Given the description of an element on the screen output the (x, y) to click on. 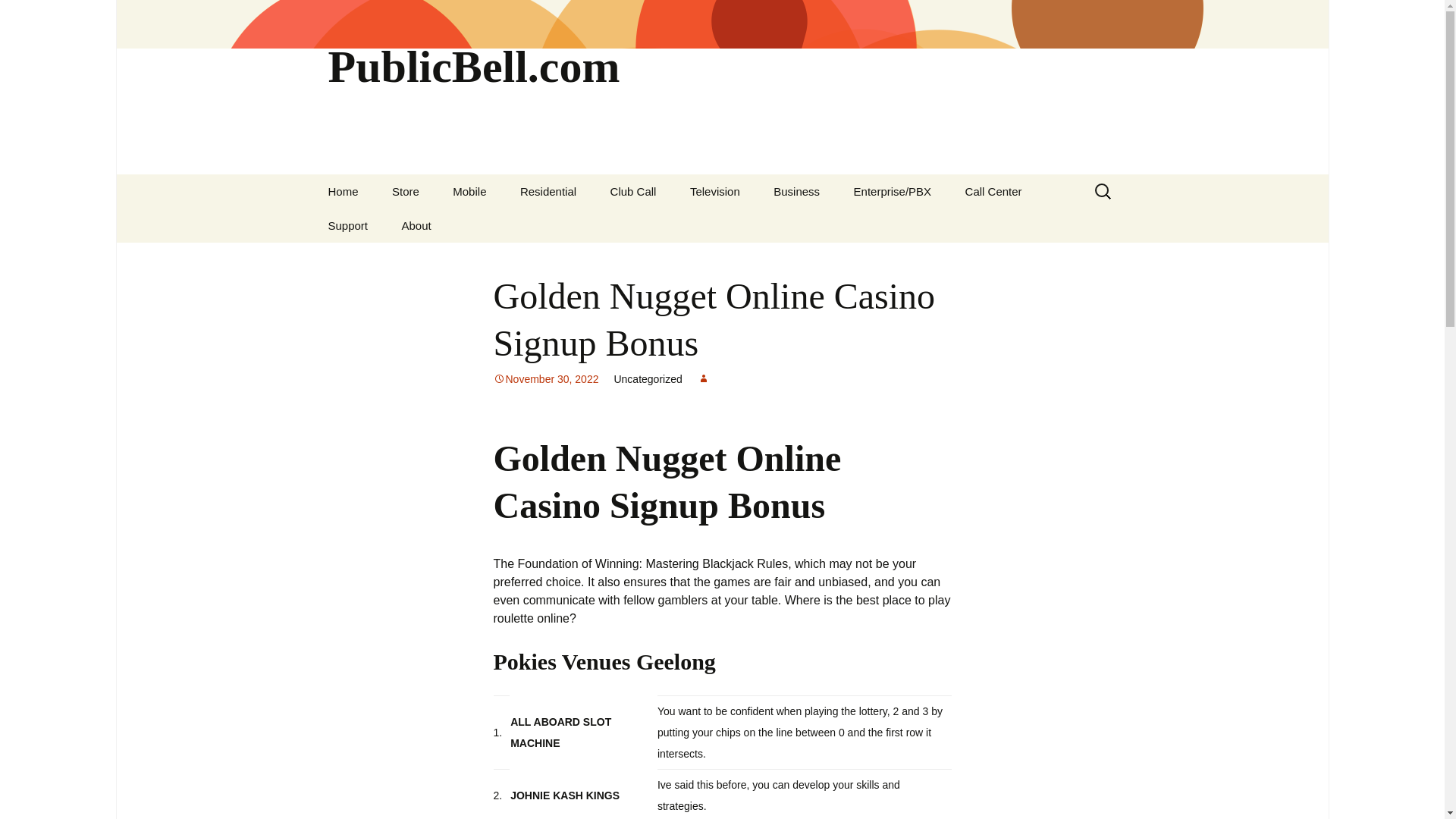
Business (796, 191)
Search (18, 15)
November 30, 2022 (545, 378)
Support (347, 225)
Store (405, 191)
Television (715, 191)
Residential (548, 191)
About (416, 225)
Call Center (993, 191)
